Given the description of an element on the screen output the (x, y) to click on. 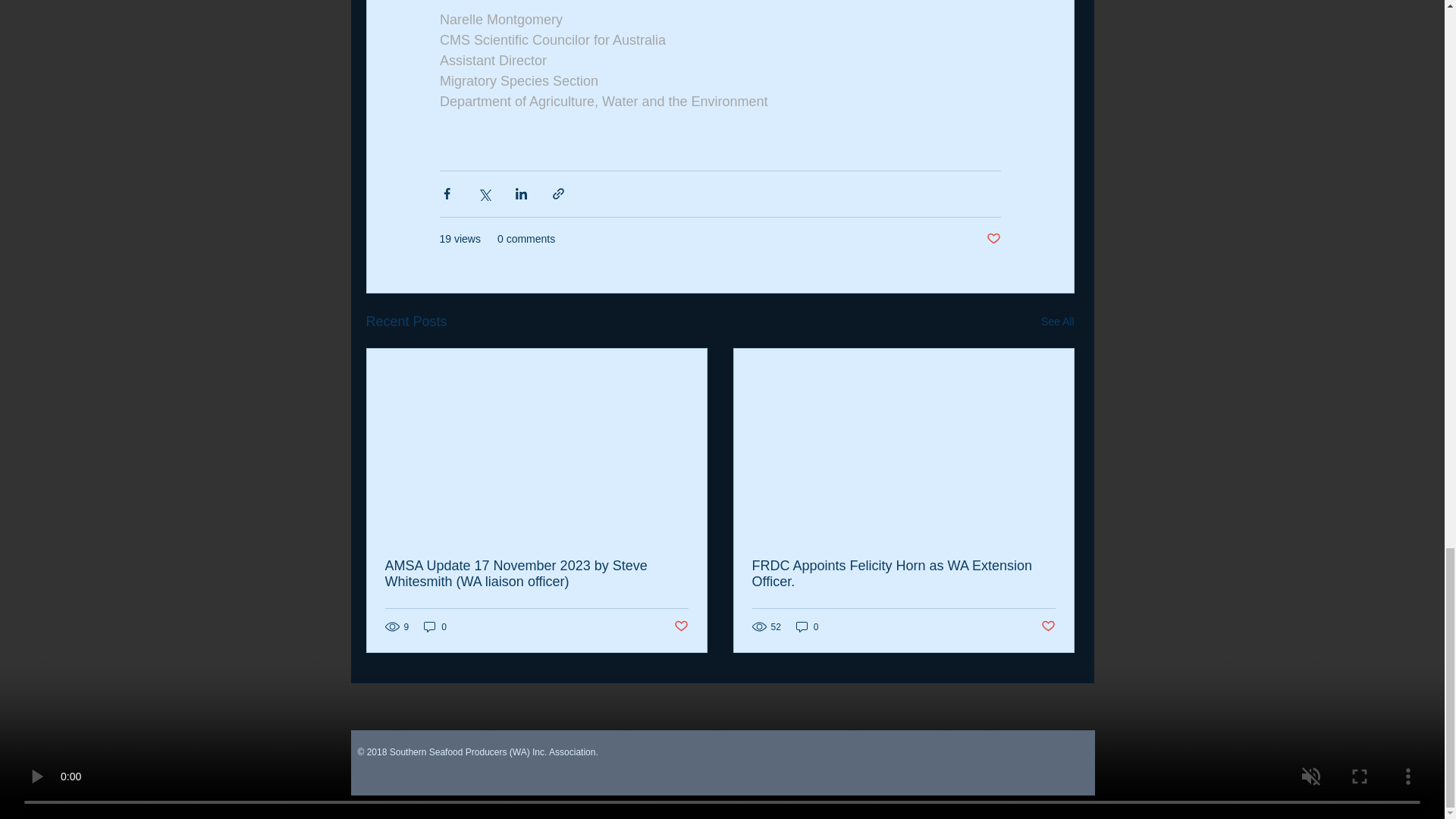
Post not marked as liked (1047, 626)
0 (807, 626)
FRDC Appoints Felicity Horn as WA Extension Officer. (903, 573)
See All (1057, 321)
0 (435, 626)
Post not marked as liked (679, 626)
Post not marked as liked (992, 238)
